Given the description of an element on the screen output the (x, y) to click on. 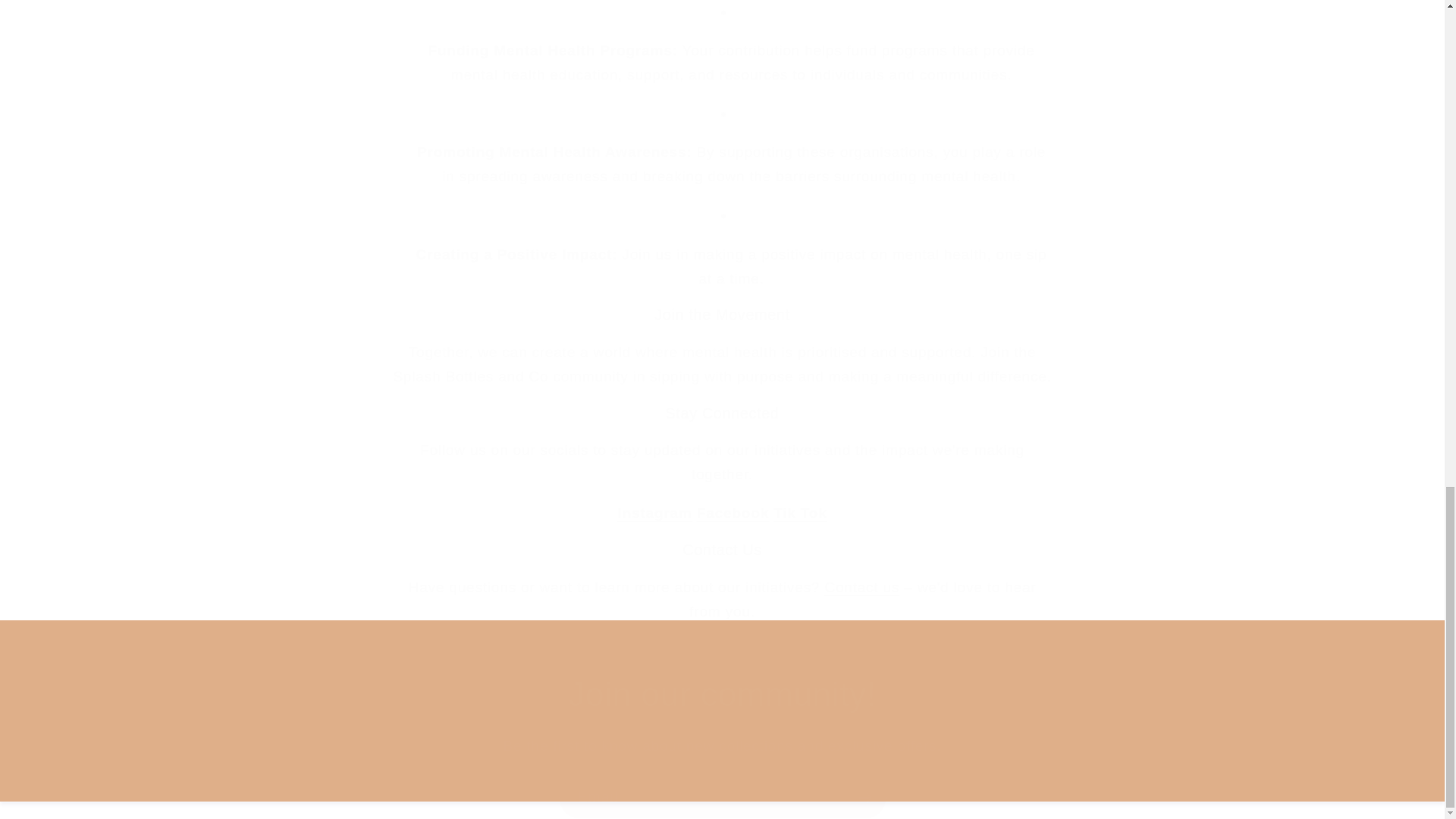
Join our community! (721, 693)
